Given the description of an element on the screen output the (x, y) to click on. 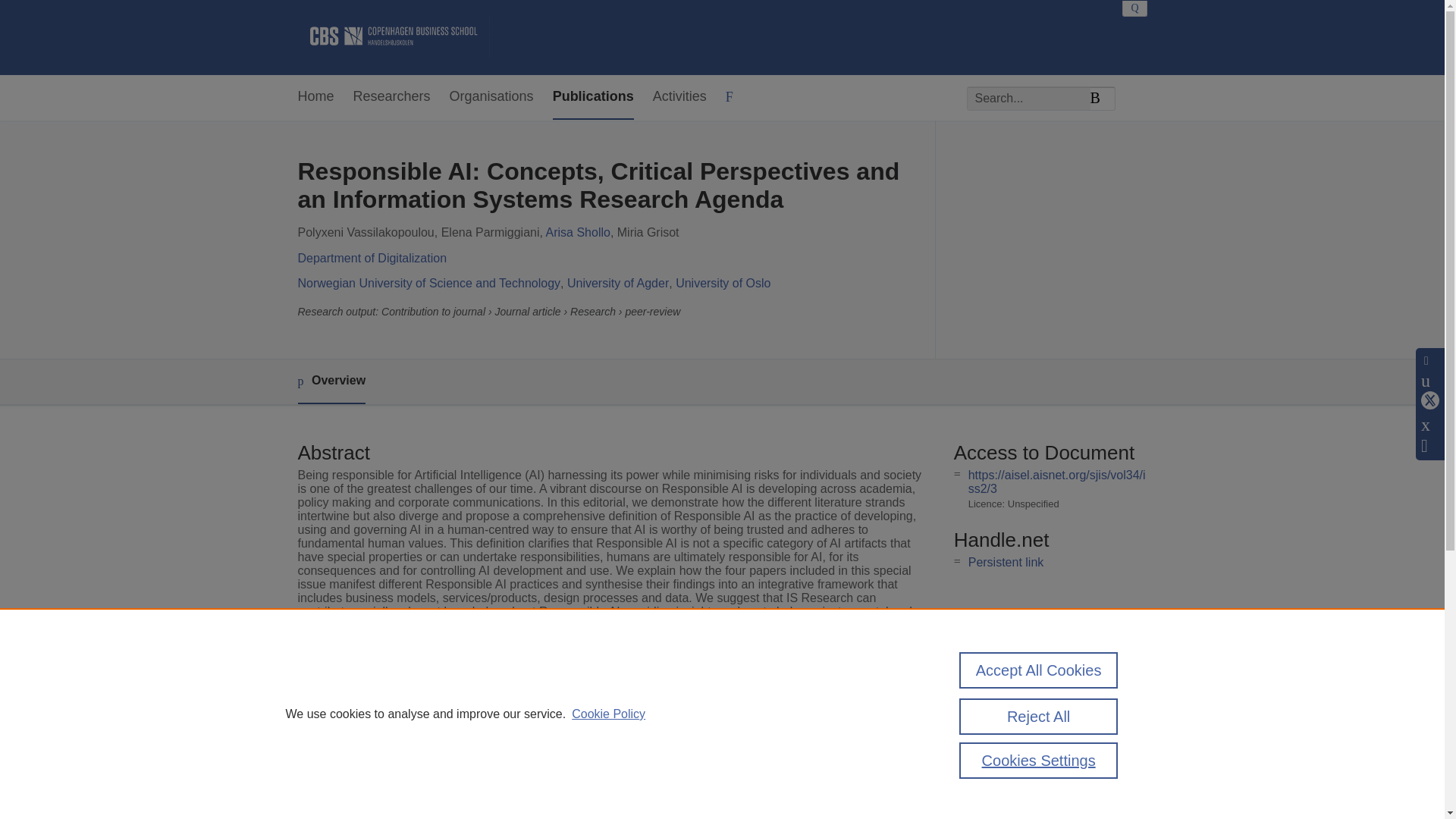
Organisations (491, 97)
Norwegian University of Science and Technology (428, 282)
Arisa Shollo (578, 232)
University of Agder (617, 282)
Researchers (391, 97)
Persistent link (1005, 562)
Overview (331, 381)
Publications (593, 97)
University of Oslo (722, 282)
Scandinavian Journal of Information Systems (627, 698)
Activities (679, 97)
Department of Digitalization (371, 257)
CBS Research Portal Home (393, 37)
